Given the description of an element on the screen output the (x, y) to click on. 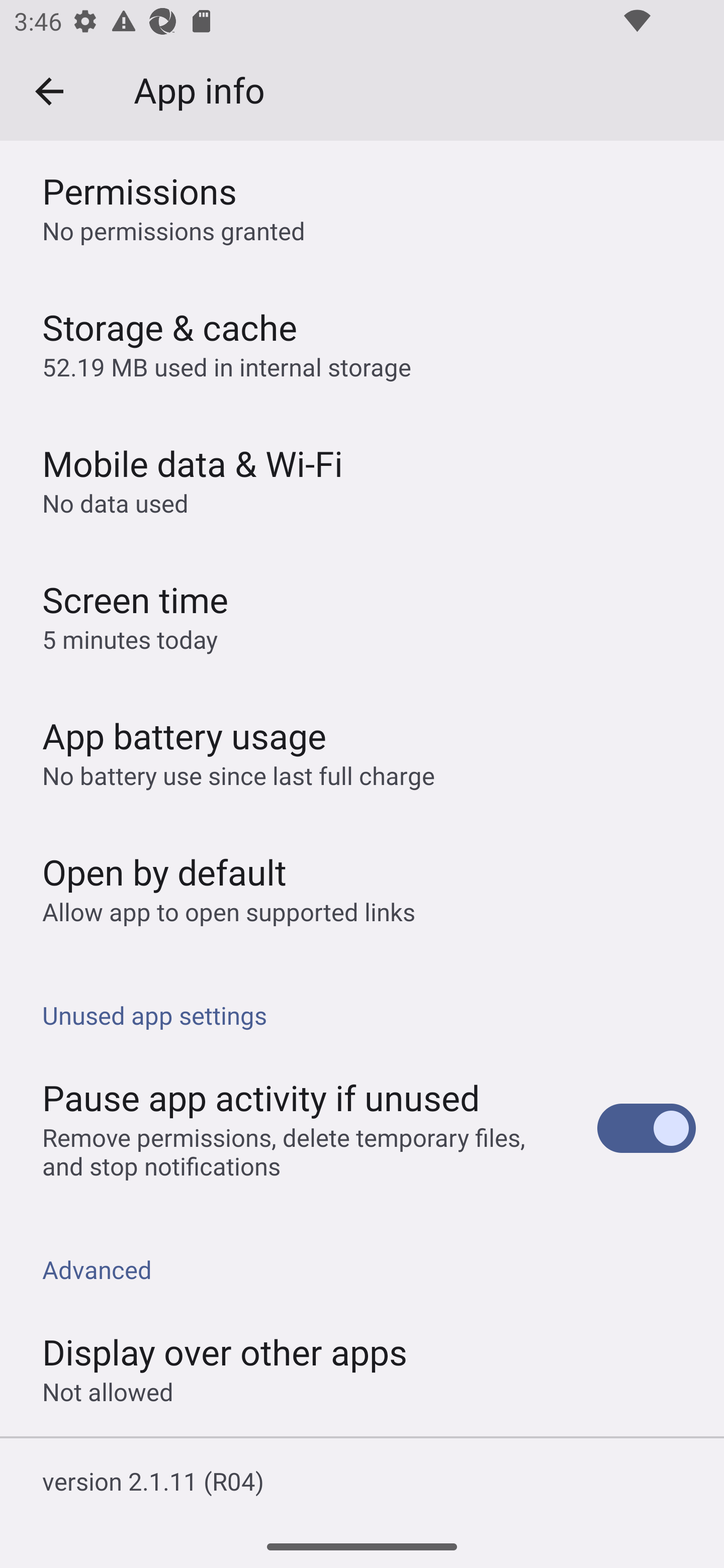
Navigate up (49, 91)
Permissions No permissions granted (362, 208)
Storage & cache 52.19 MB used in internal storage (362, 342)
Mobile data & Wi‑Fi No data used (362, 478)
Screen time 5 minutes today (362, 615)
Open by default Allow app to open supported links (362, 888)
Display over other apps Not allowed (362, 1367)
